Given the description of an element on the screen output the (x, y) to click on. 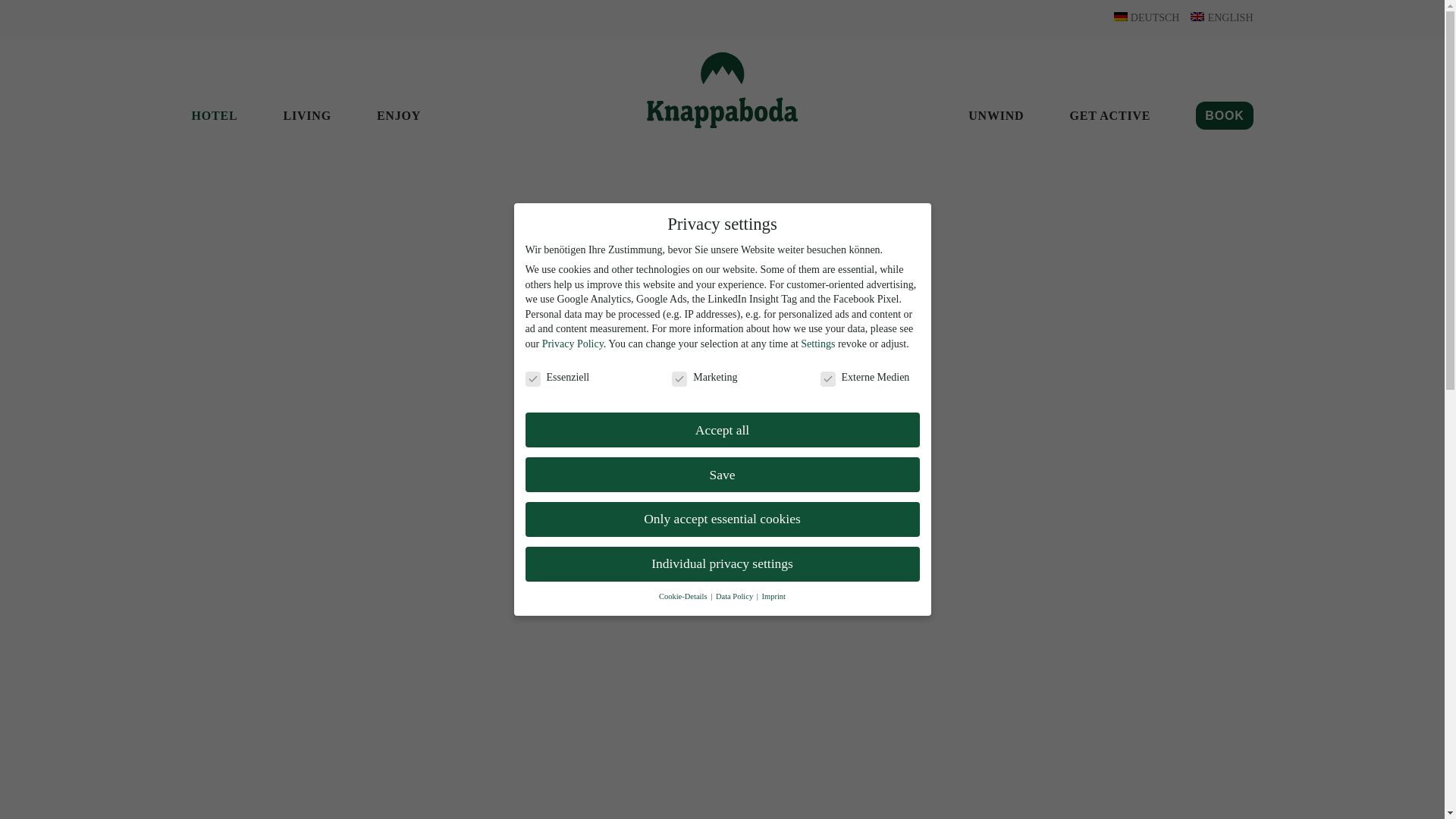
BOOK (1223, 115)
ENGLISH (1221, 17)
LIVING (306, 115)
GET ACTIVE (1109, 115)
UNWIND (995, 115)
English (1221, 17)
DEUTSCH (1146, 17)
Open Cookie Preferences (32, 799)
HOTEL (213, 115)
ENJOY (398, 115)
Deutsch (1146, 17)
